Given the description of an element on the screen output the (x, y) to click on. 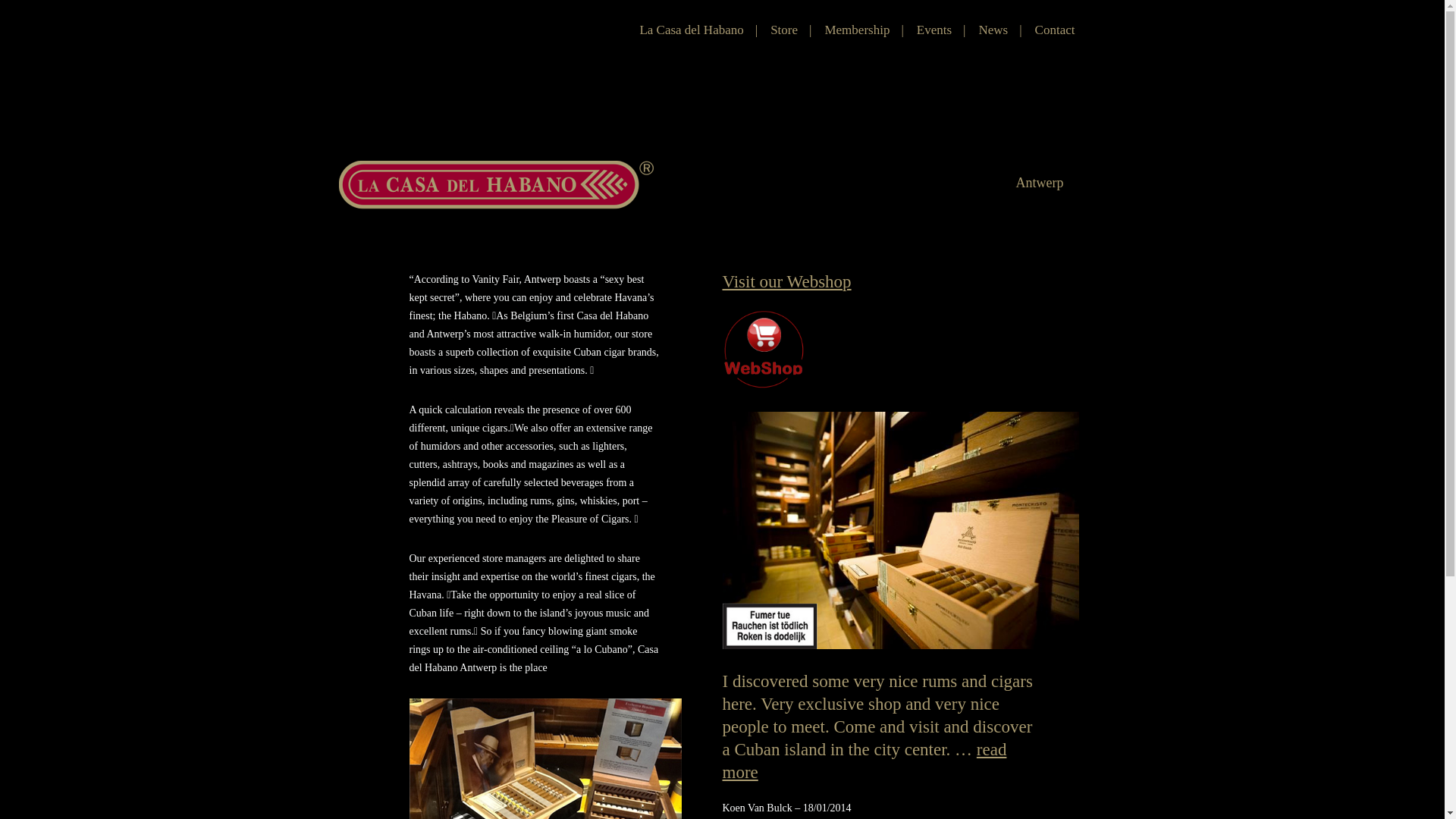
Contact Element type: text (1055, 29)
La Casa del Habano Element type: text (691, 29)
Events Element type: text (933, 29)
read more Element type: text (863, 760)
Store Element type: text (783, 29)
Membership Element type: text (856, 29)
Webshop Element type: hover (762, 348)
Visit our Webshop Element type: text (785, 281)
News Element type: text (992, 29)
